Given the description of an element on the screen output the (x, y) to click on. 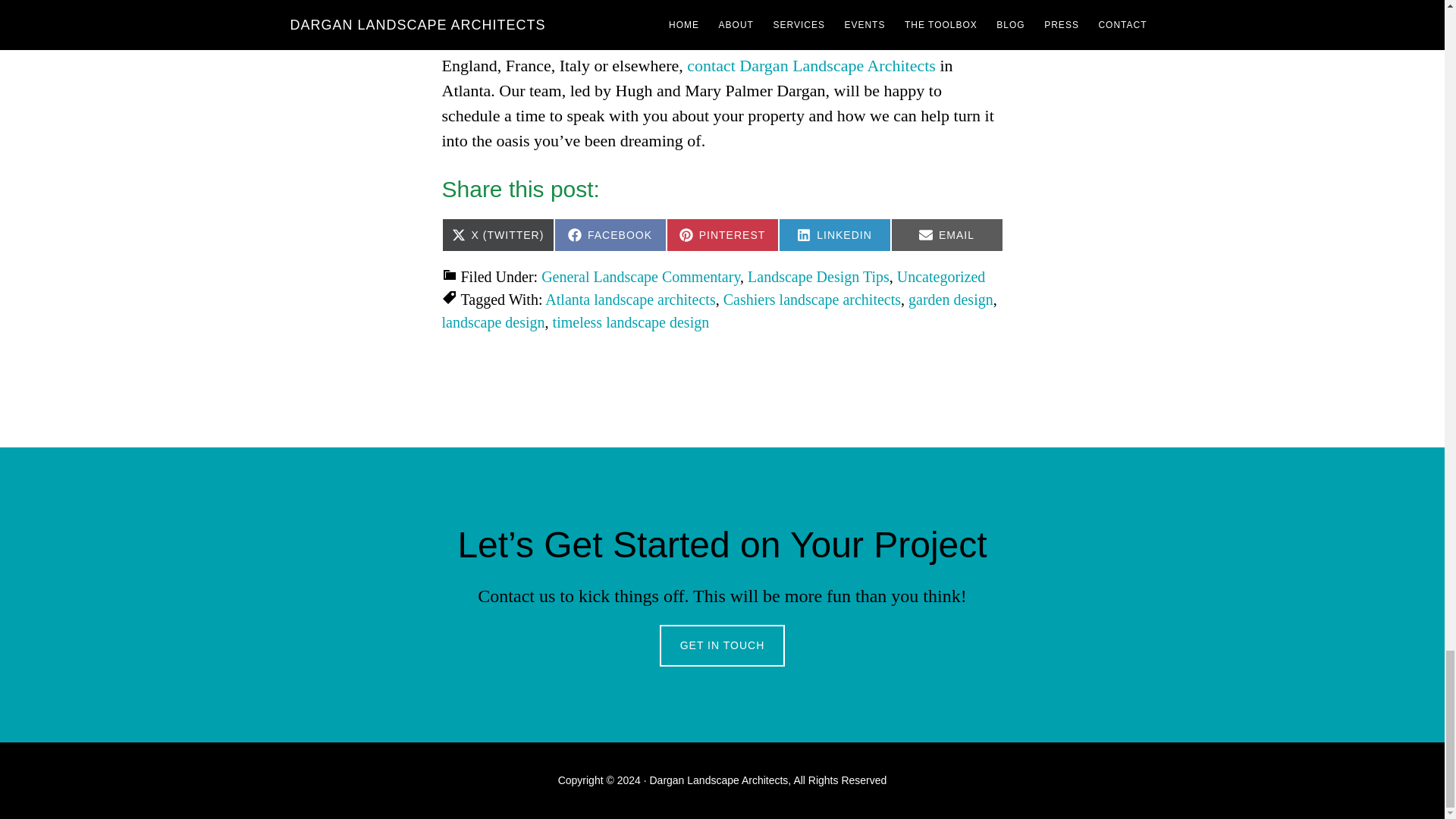
contact Dargan Landscape Architects (721, 234)
